Given the description of an element on the screen output the (x, y) to click on. 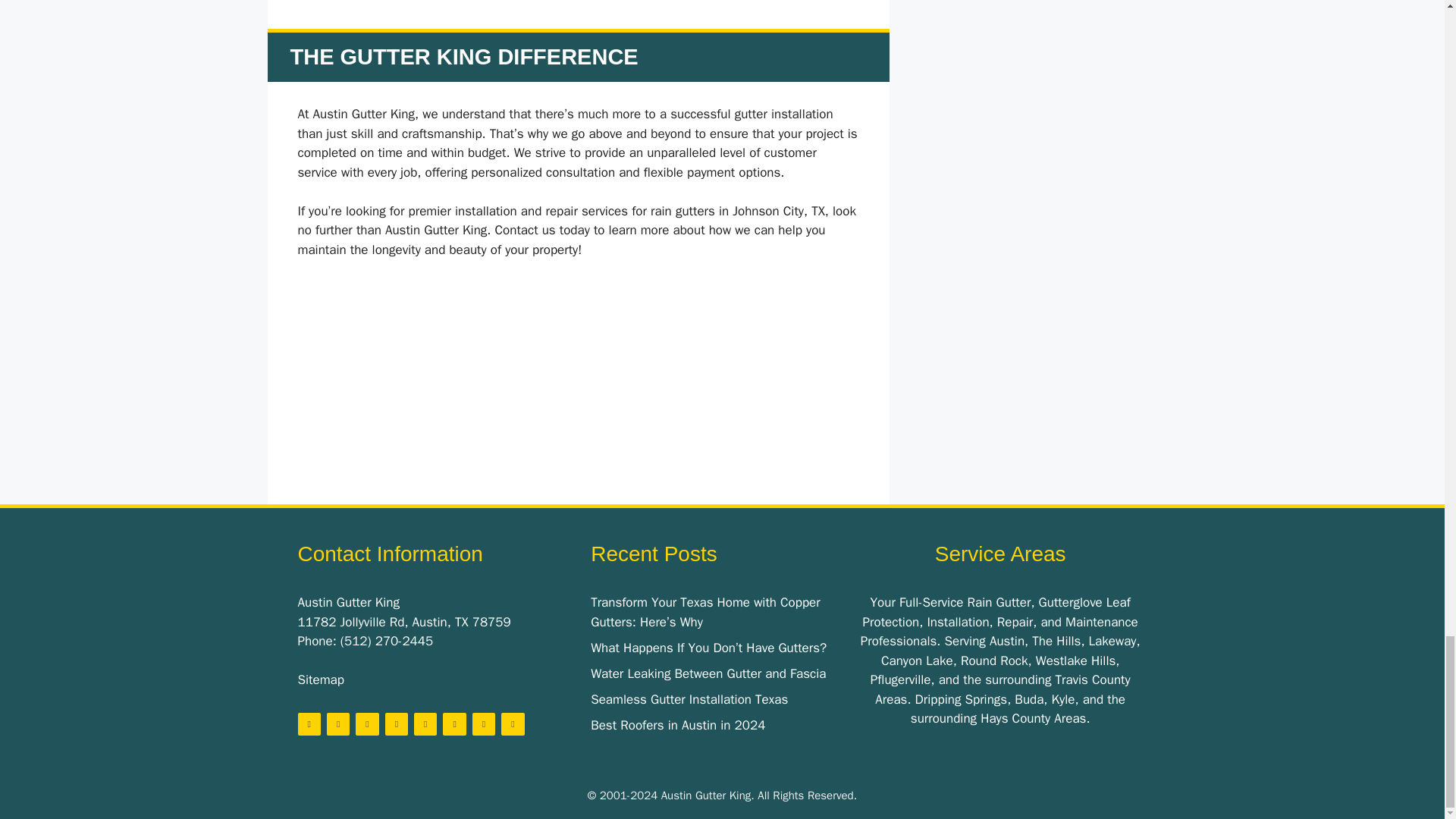
Twitter (337, 723)
Facebook (308, 723)
YouTube (424, 723)
LinkedIn (396, 723)
